Given the description of an element on the screen output the (x, y) to click on. 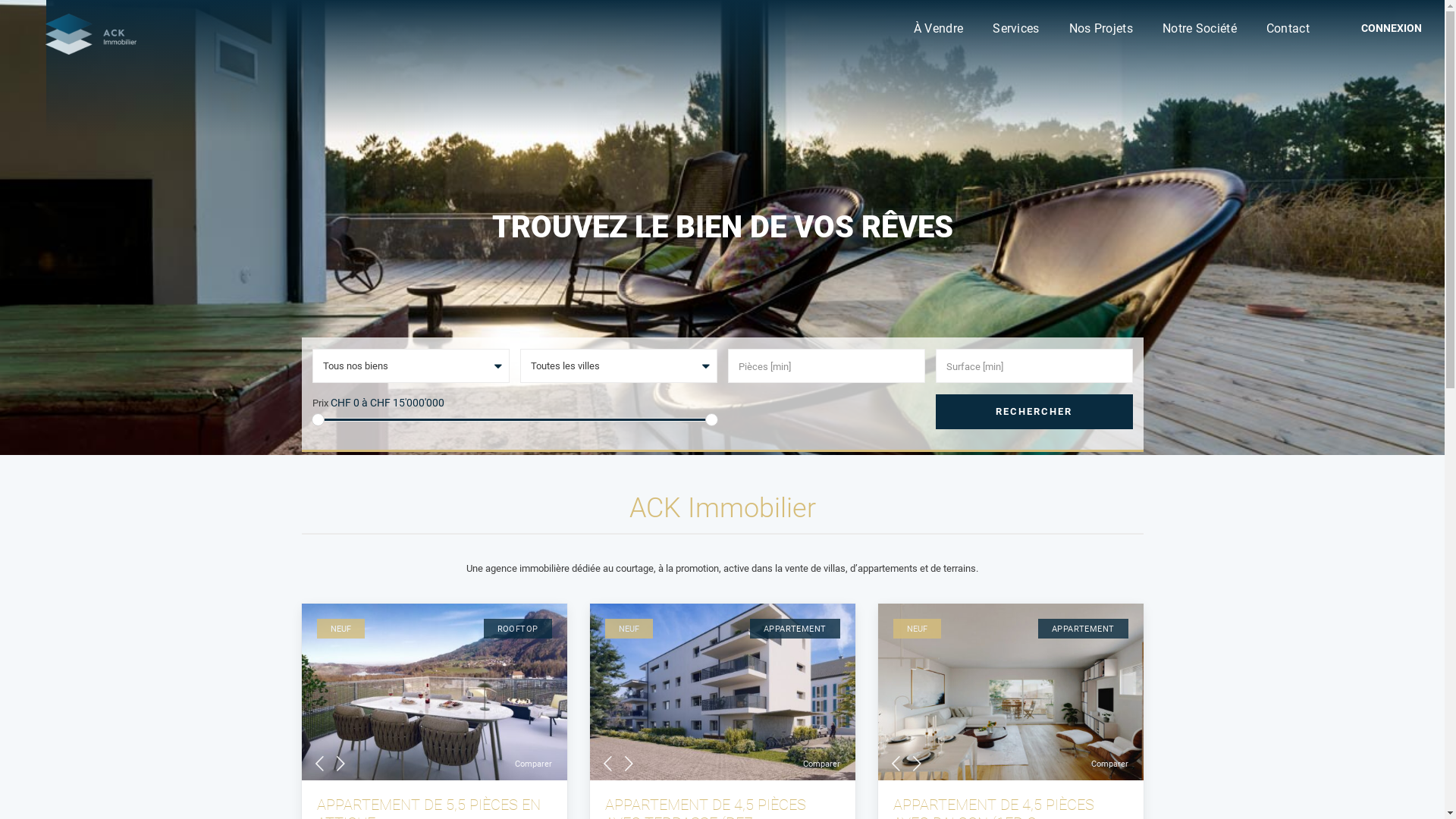
Services Element type: text (1015, 28)
Contact Element type: text (1287, 28)
Rechercher Element type: text (1033, 411)
Nos Projets Element type: text (1100, 28)
